Given the description of an element on the screen output the (x, y) to click on. 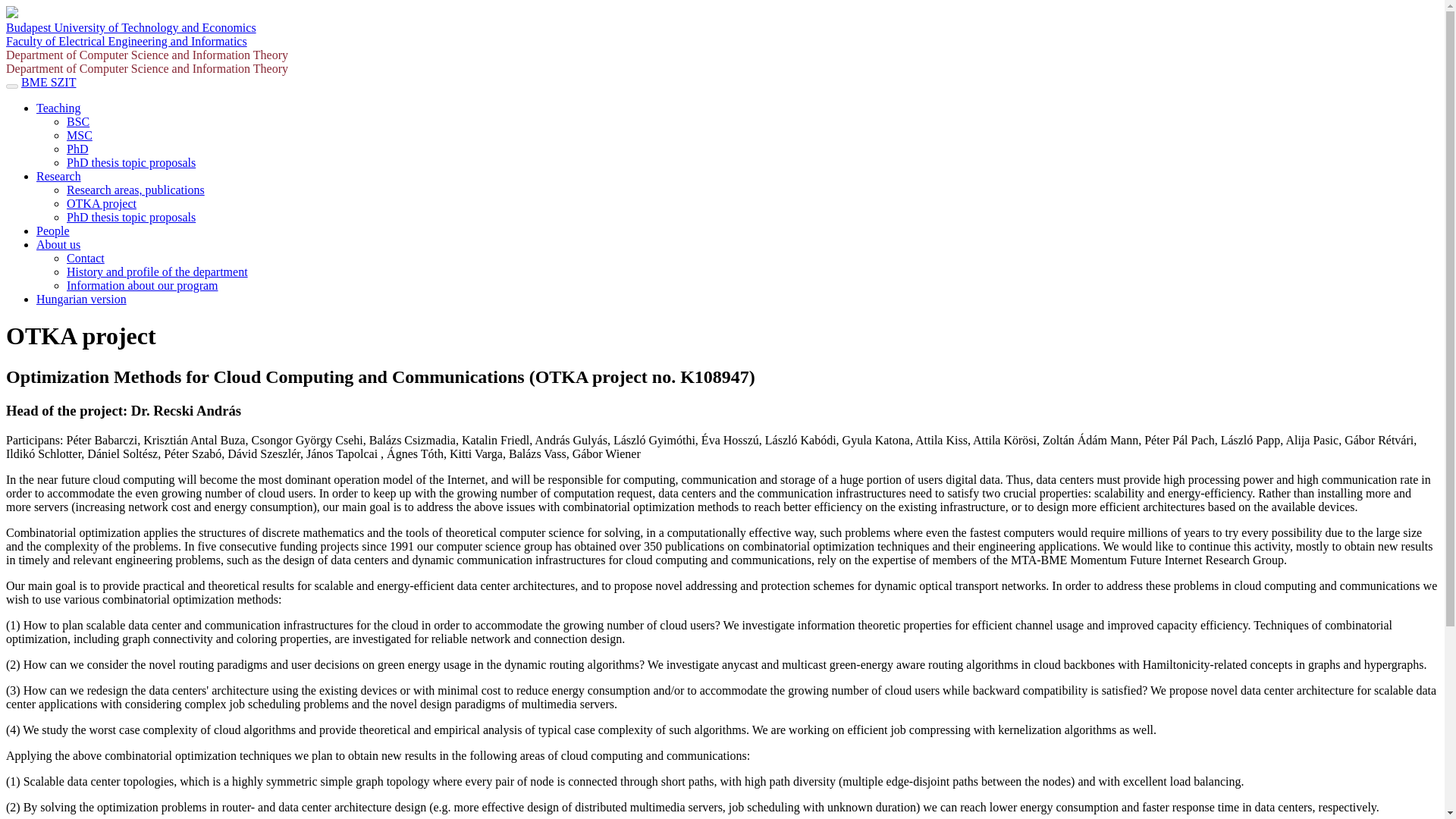
Research (58, 175)
BSC (77, 121)
Hungarian version (81, 298)
Information about our program (142, 285)
PhD (76, 148)
BME SZIT (48, 82)
Contact (85, 257)
PhD thesis topic proposals (130, 162)
PhD thesis topic proposals (130, 216)
History and profile of the department (156, 271)
